Given the description of an element on the screen output the (x, y) to click on. 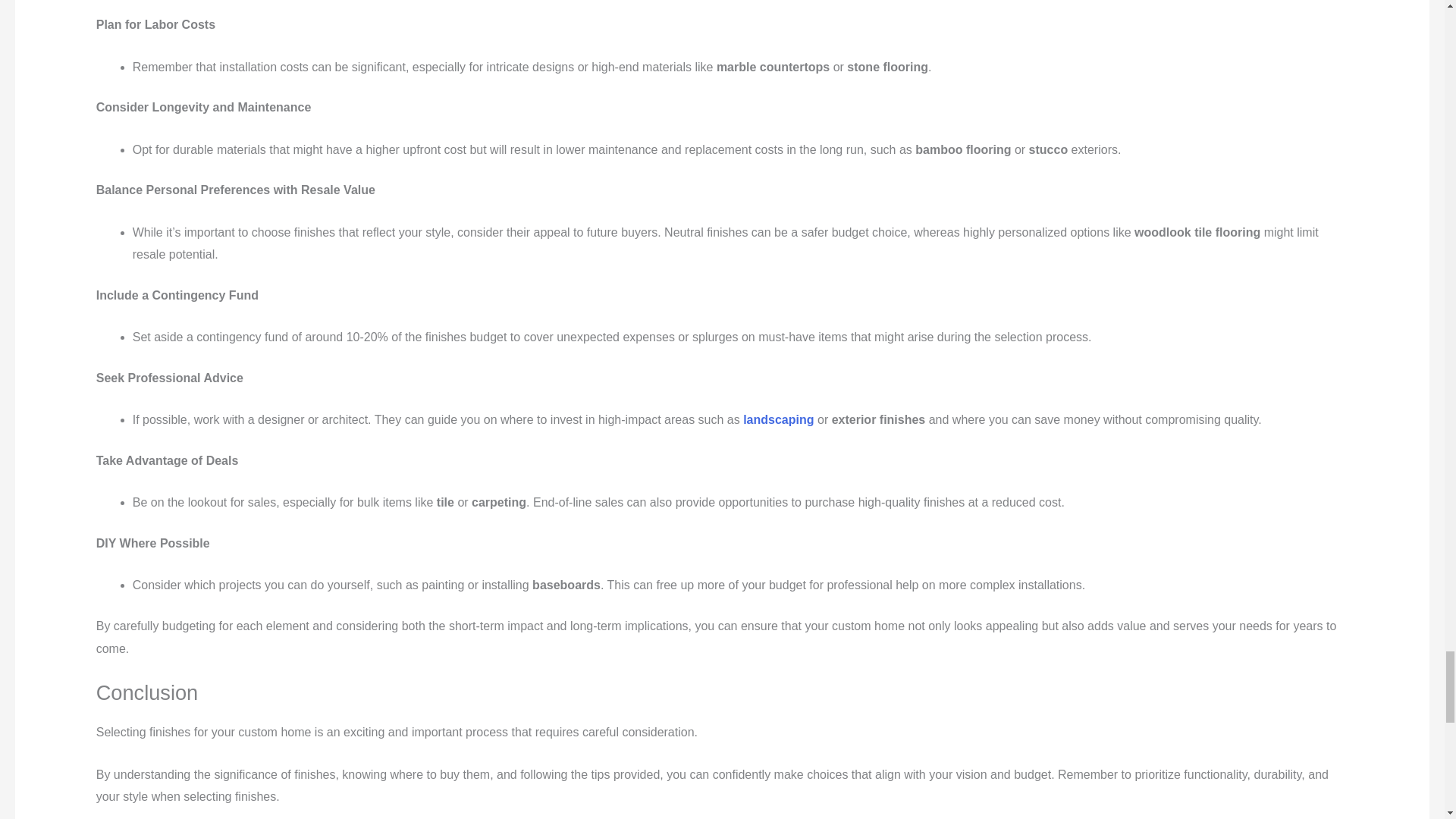
landscaping (777, 419)
